Given the description of an element on the screen output the (x, y) to click on. 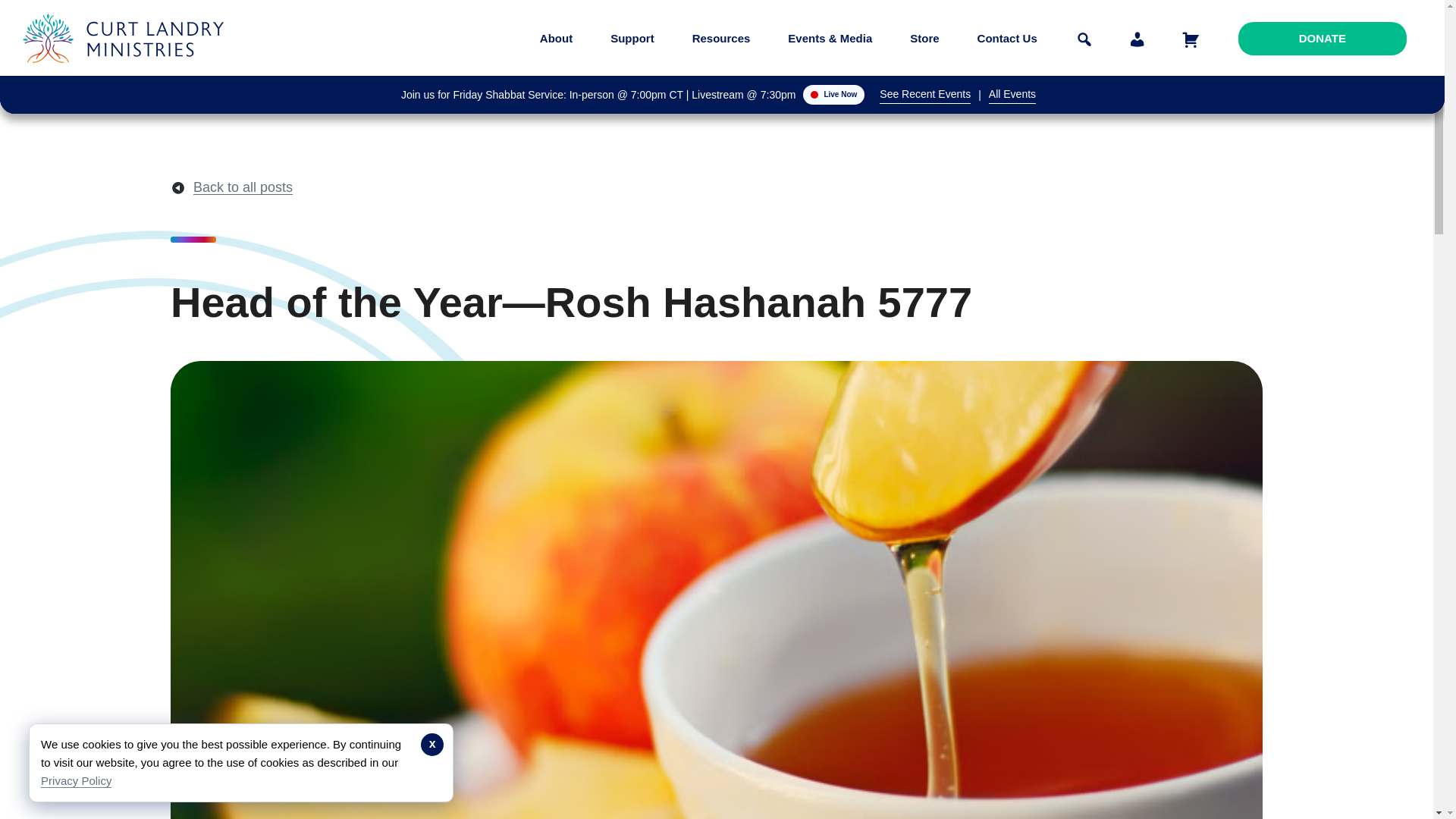
Resources (721, 38)
Store (924, 38)
Curt Landry Ministries (127, 74)
About (556, 38)
Support (631, 38)
